Given the description of an element on the screen output the (x, y) to click on. 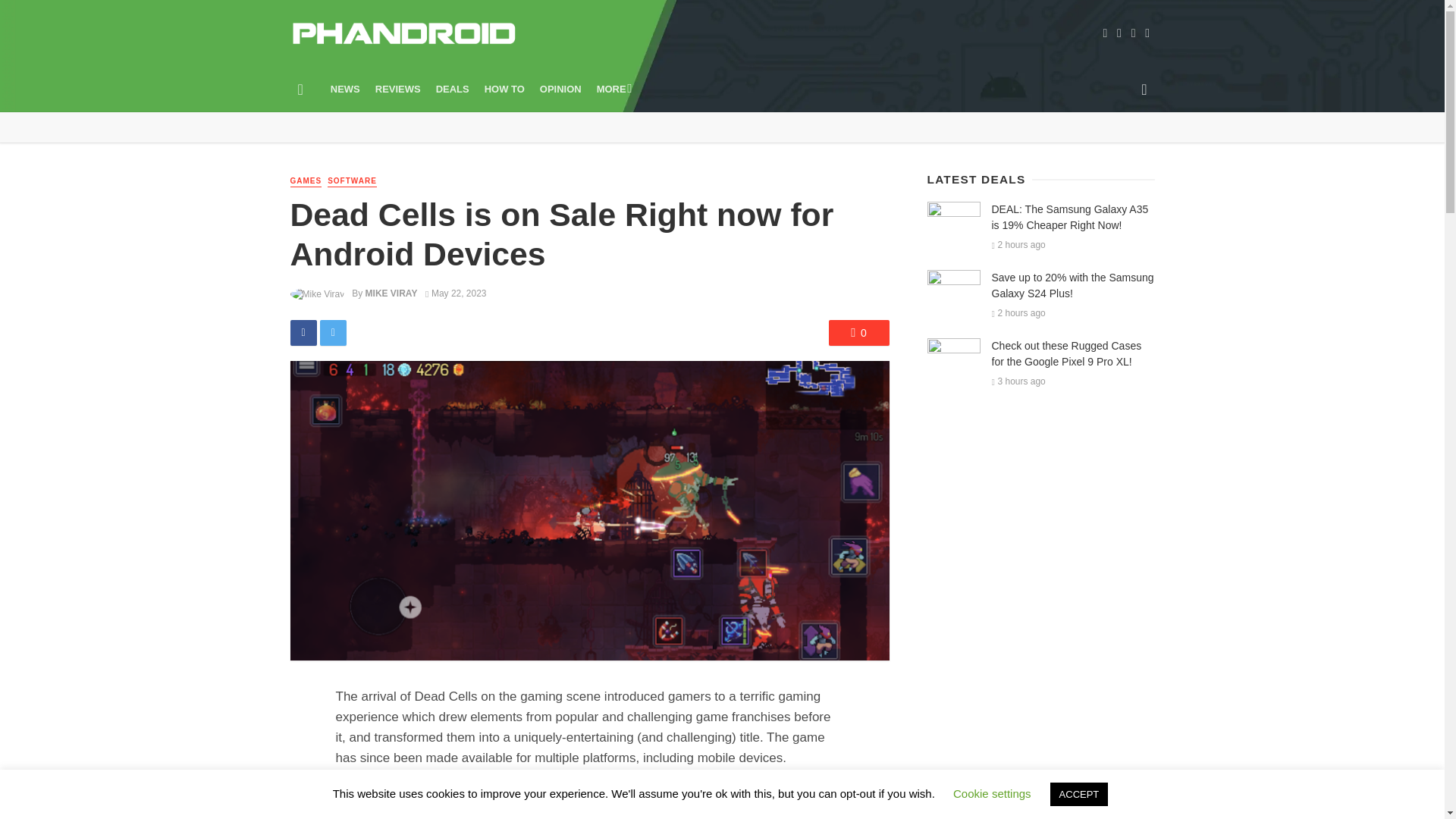
NEWS (345, 89)
0 (858, 332)
GAMES (305, 181)
Posts by Mike Viray (391, 293)
REVIEWS (398, 89)
DEALS (452, 89)
OPINION (560, 89)
SOFTWARE (352, 181)
MIKE VIRAY (391, 293)
MORE (612, 89)
